Given the description of an element on the screen output the (x, y) to click on. 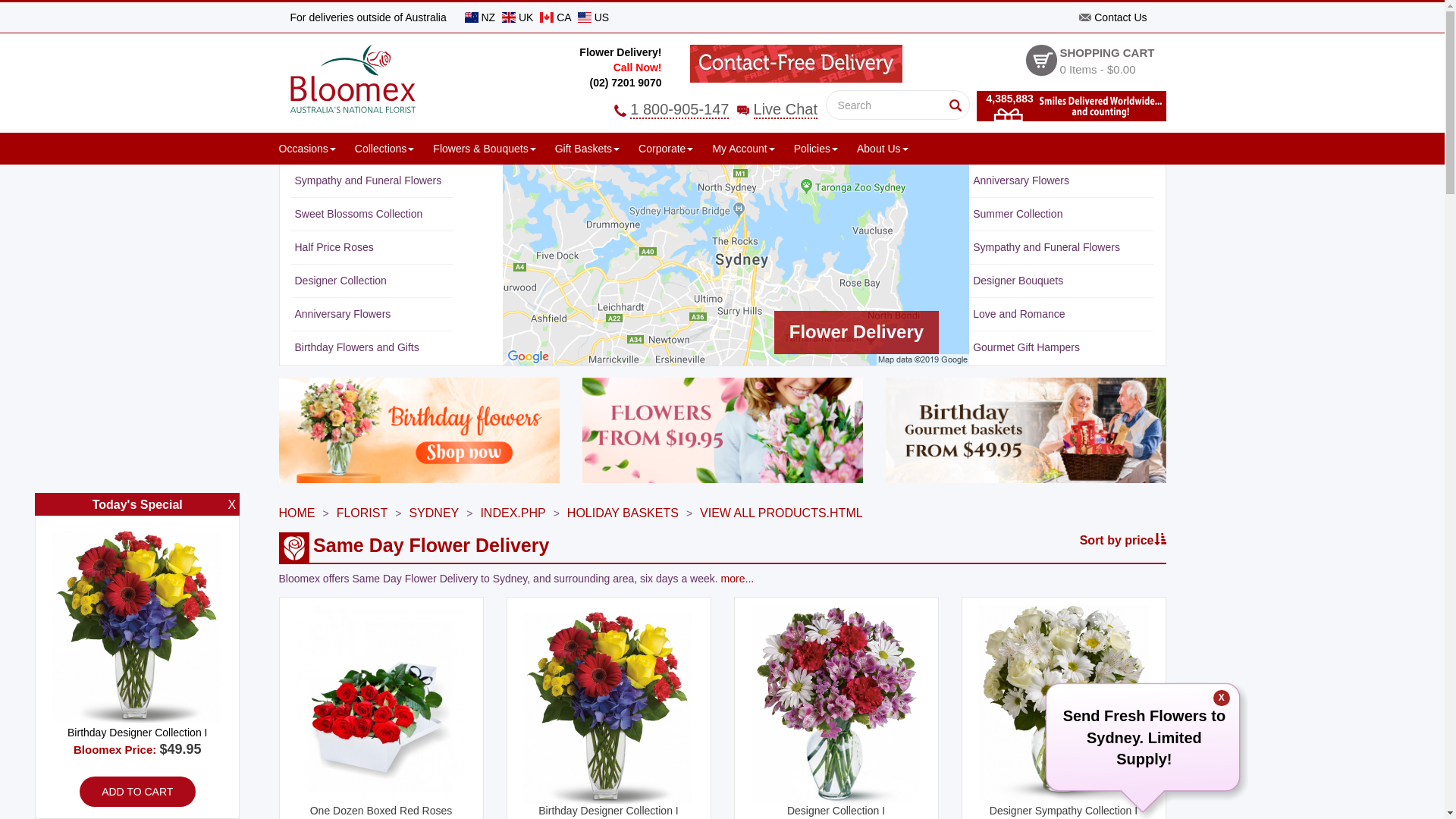
Apply for 20% Corporate Account Element type: text (733, 170)
Gourmet Collection Baskets Element type: text (641, 170)
Flowers & Bouquets Element type: text (484, 148)
Collections Element type: text (384, 148)
Policies Element type: text (815, 148)
One Dozen Boxed Red Roses Element type: text (380, 711)
Anniversary Flowers Element type: text (1020, 180)
Sympathy and Funeral Flowers Element type: text (1046, 247)
INDEX.PHP Element type: text (512, 512)
Designer Collection Element type: text (439, 170)
Designer Sympathy Collection I Element type: text (1063, 711)
Live Chat Element type: text (779, 108)
About Us Element type: text (861, 170)
Birthday Flowers and Gifts Element type: text (356, 347)
Birthday Designer Collection I Element type: text (137, 632)
Gift Baskets Element type: text (587, 148)
Birthday Flowers and Gift Baskets Element type: text (384, 170)
Roses Element type: text (510, 170)
HOLIDAY BASKETS Element type: text (622, 512)
Occasions Element type: text (307, 148)
Anniversary Flowers Element type: text (342, 313)
Account Login/Logout Element type: text (809, 170)
Designer Bouquets Element type: text (1017, 280)
CA Element type: text (556, 17)
1 800-905-147 Element type: text (673, 108)
(02) 7201 9070 Element type: text (625, 82)
Summer Collection Element type: text (1017, 213)
Sympathy and Funeral Flowers Element type: text (367, 180)
About Bloomex Element type: text (921, 170)
HOME Element type: text (297, 512)
Sweet Blossoms Collection Element type: text (358, 213)
Love and Romance Element type: text (1018, 313)
Designer Collection Element type: text (339, 280)
UK Element type: text (519, 17)
VIEW ALL PRODUCTS.HTML Element type: text (780, 512)
NZ Element type: text (481, 17)
About Us Element type: text (882, 148)
Corporate Element type: text (665, 148)
Gourmet Gift Hampers Element type: text (1025, 347)
Birthday Designer Collection I Element type: text (608, 711)
Contact Us Element type: text (1112, 17)
Designer Collection I Element type: text (835, 711)
Half Price Roses Element type: text (333, 247)
My Account Element type: text (743, 148)
SYDNEY Element type: text (433, 512)
US Element type: text (592, 17)
